Given the description of an element on the screen output the (x, y) to click on. 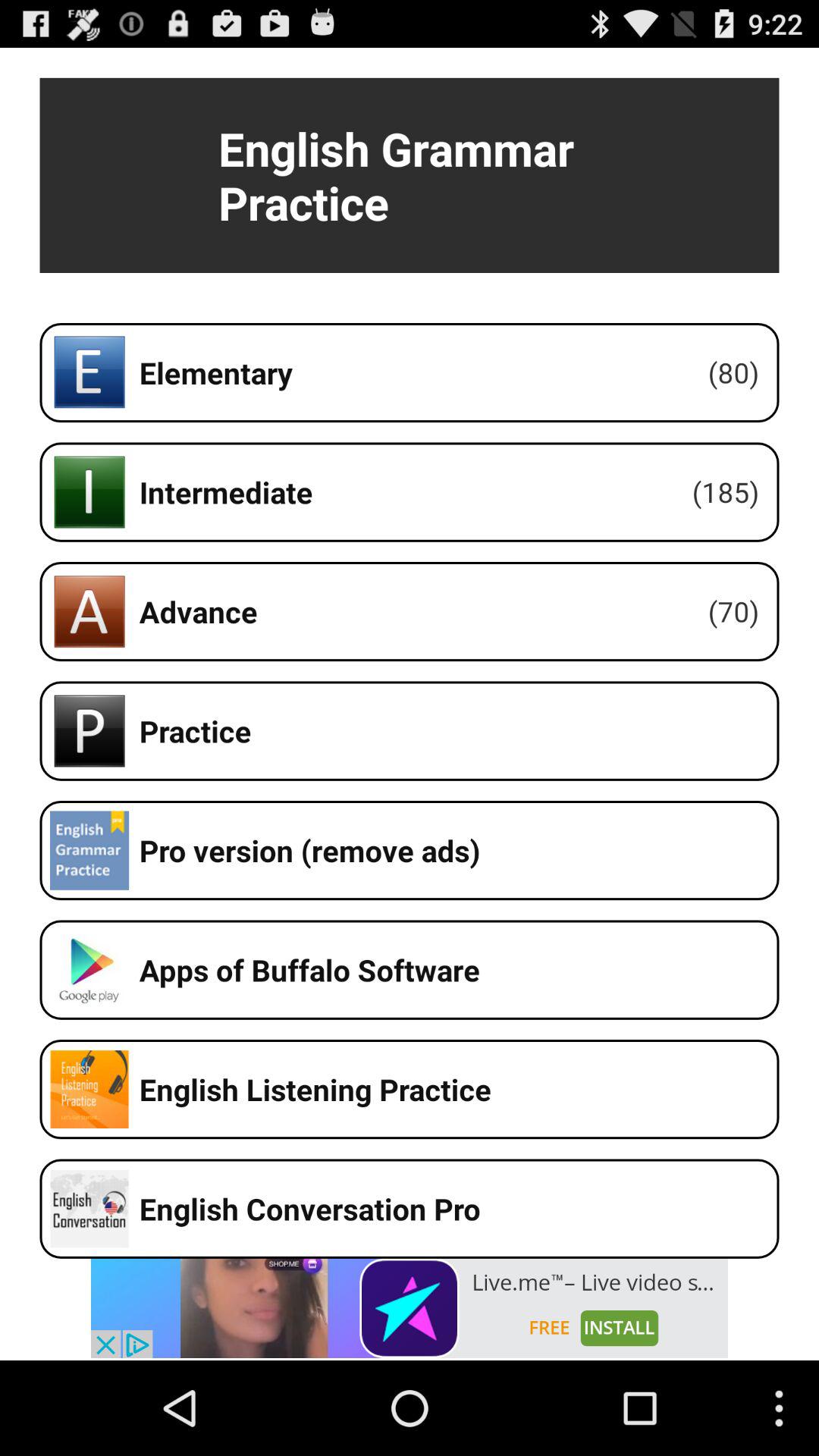
clickable advertisement (409, 1308)
